Given the description of an element on the screen output the (x, y) to click on. 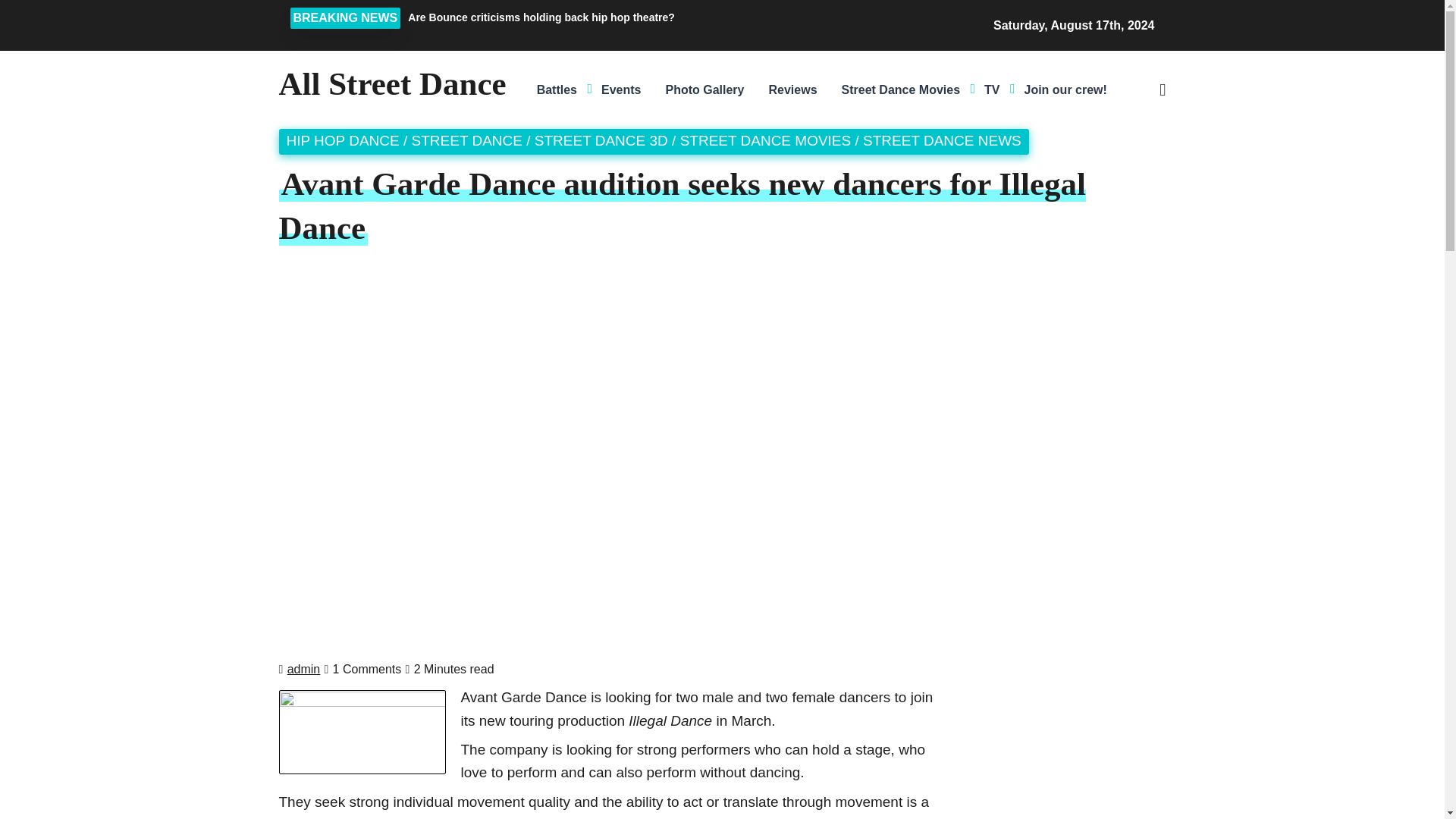
Street Dance Movies (900, 89)
All Street Dance (392, 83)
Battles (556, 89)
Reviews (791, 89)
Are Bounce criticisms holding back hip hop theatre? (637, 17)
Events (620, 89)
logo-avant-garde-dance-off-black (362, 731)
Photo Gallery (703, 89)
